Given the description of an element on the screen output the (x, y) to click on. 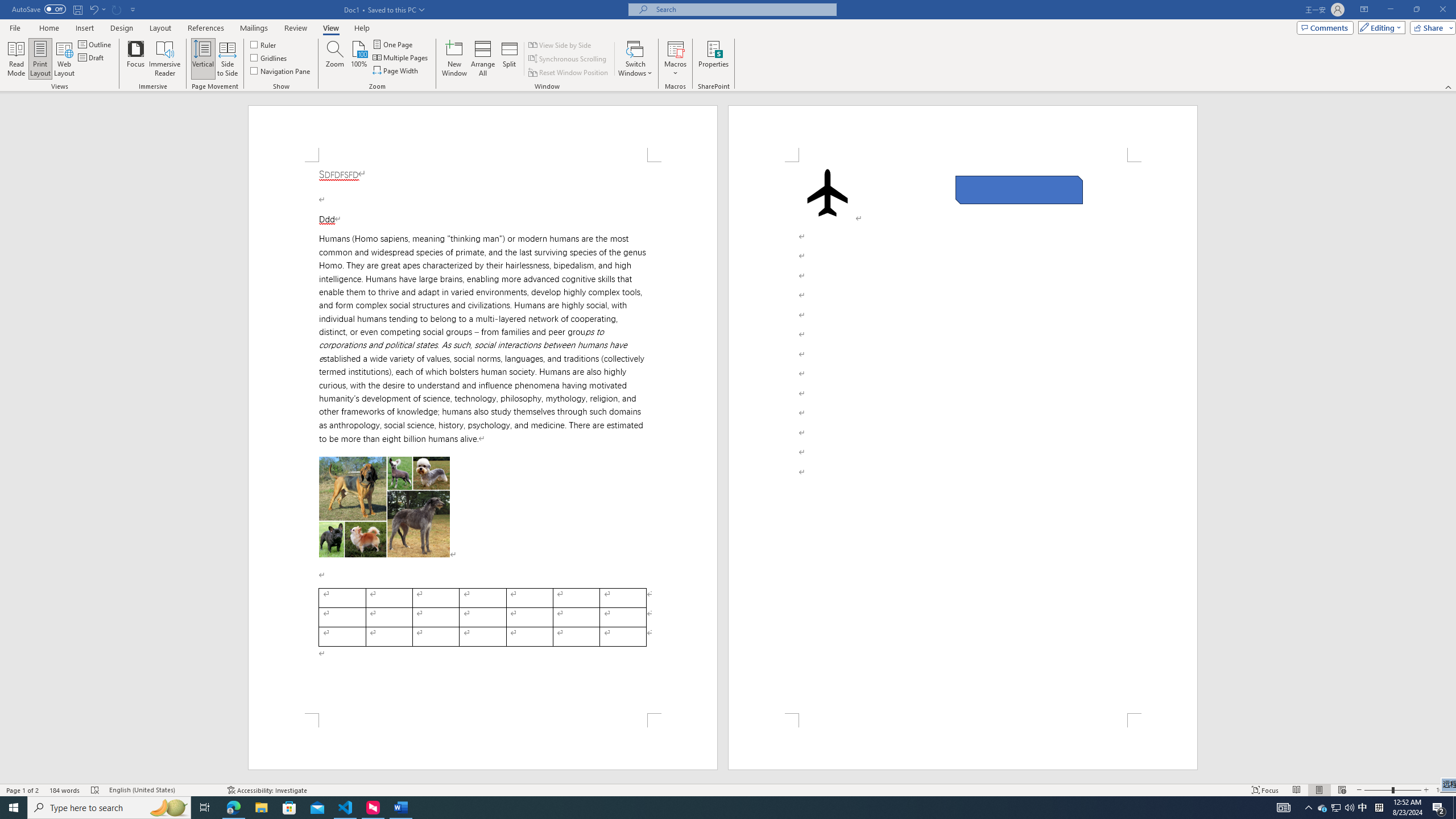
Language English (United States) (162, 790)
Airplane with solid fill (827, 192)
Save (77, 9)
Word - 1 running window (400, 807)
Page Number Page 1 of 2 (22, 790)
Comments (1325, 27)
Start (13, 807)
File Explorer (261, 807)
Layout (160, 28)
Zoom Out (1377, 790)
Zoom (1392, 790)
Visual Studio Code - 1 running window (345, 807)
100% (358, 58)
Gridlines (269, 56)
